Given the description of an element on the screen output the (x, y) to click on. 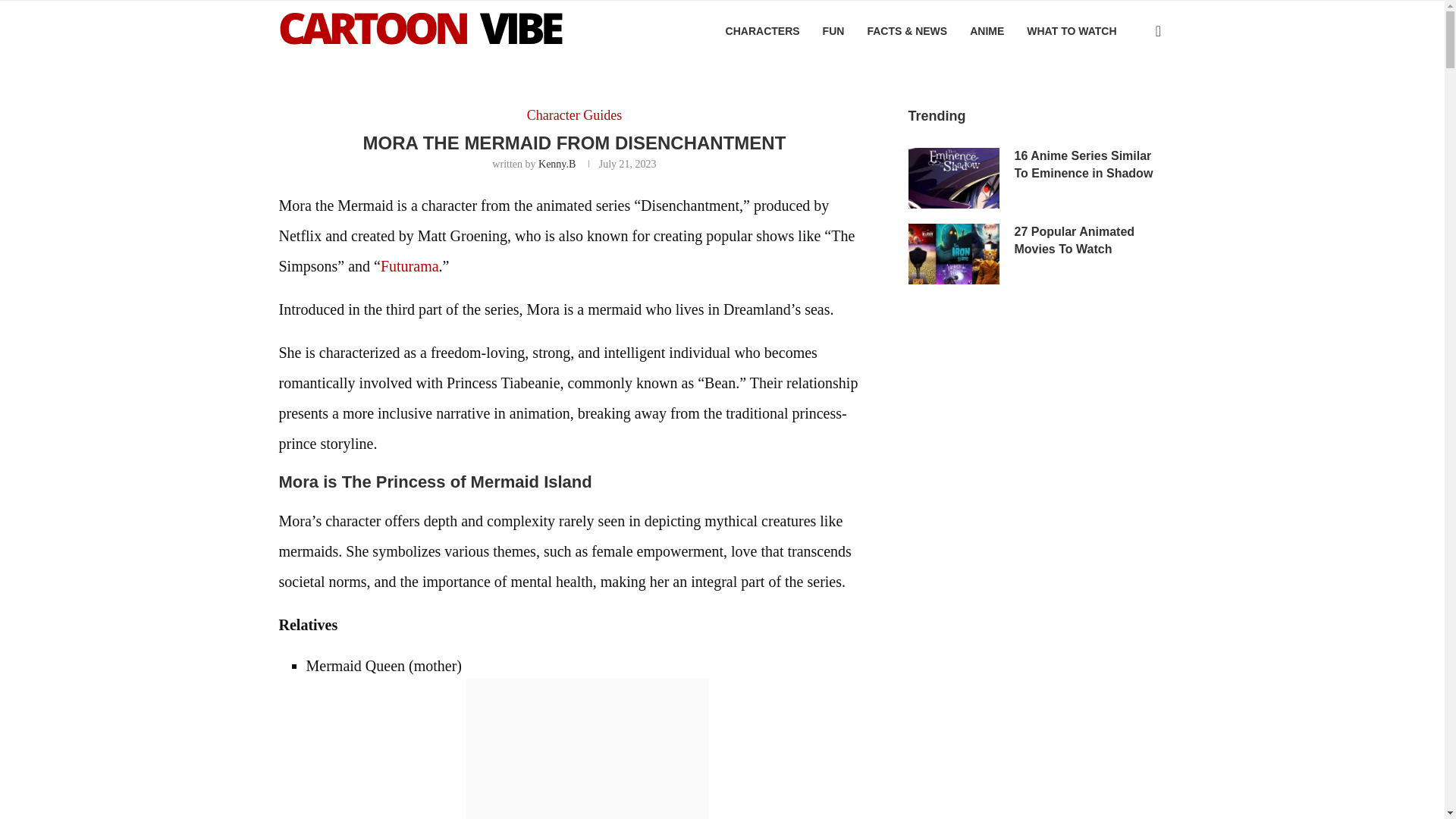
27 Popular Animated Movies To Watch (953, 253)
CHARACTERS (762, 30)
16 Anime Series Similar To Eminence in Shadow (1090, 164)
Kenny.B (556, 163)
16 Anime Series Similar To Eminence in Shadow (1090, 164)
WHAT TO WATCH (1071, 30)
27 Popular Animated Movies To Watch (1090, 240)
27 Popular Animated Movies To Watch (1090, 240)
16 Anime Series Similar To Eminence in Shadow (953, 178)
Futurama (409, 265)
Character Guides (574, 115)
